Given the description of an element on the screen output the (x, y) to click on. 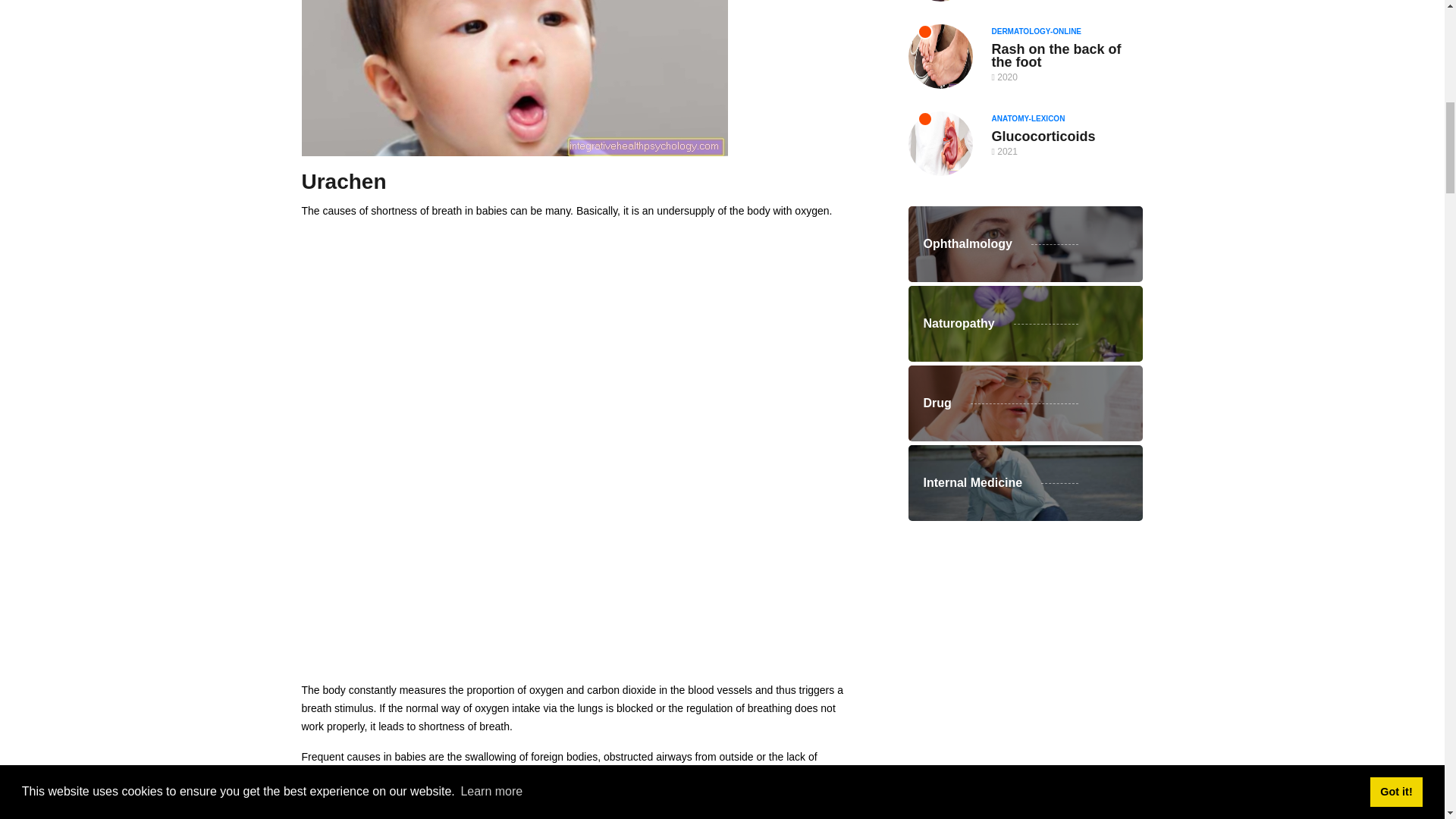
Advertisement (578, 562)
Advertisement (1025, 619)
